Given the description of an element on the screen output the (x, y) to click on. 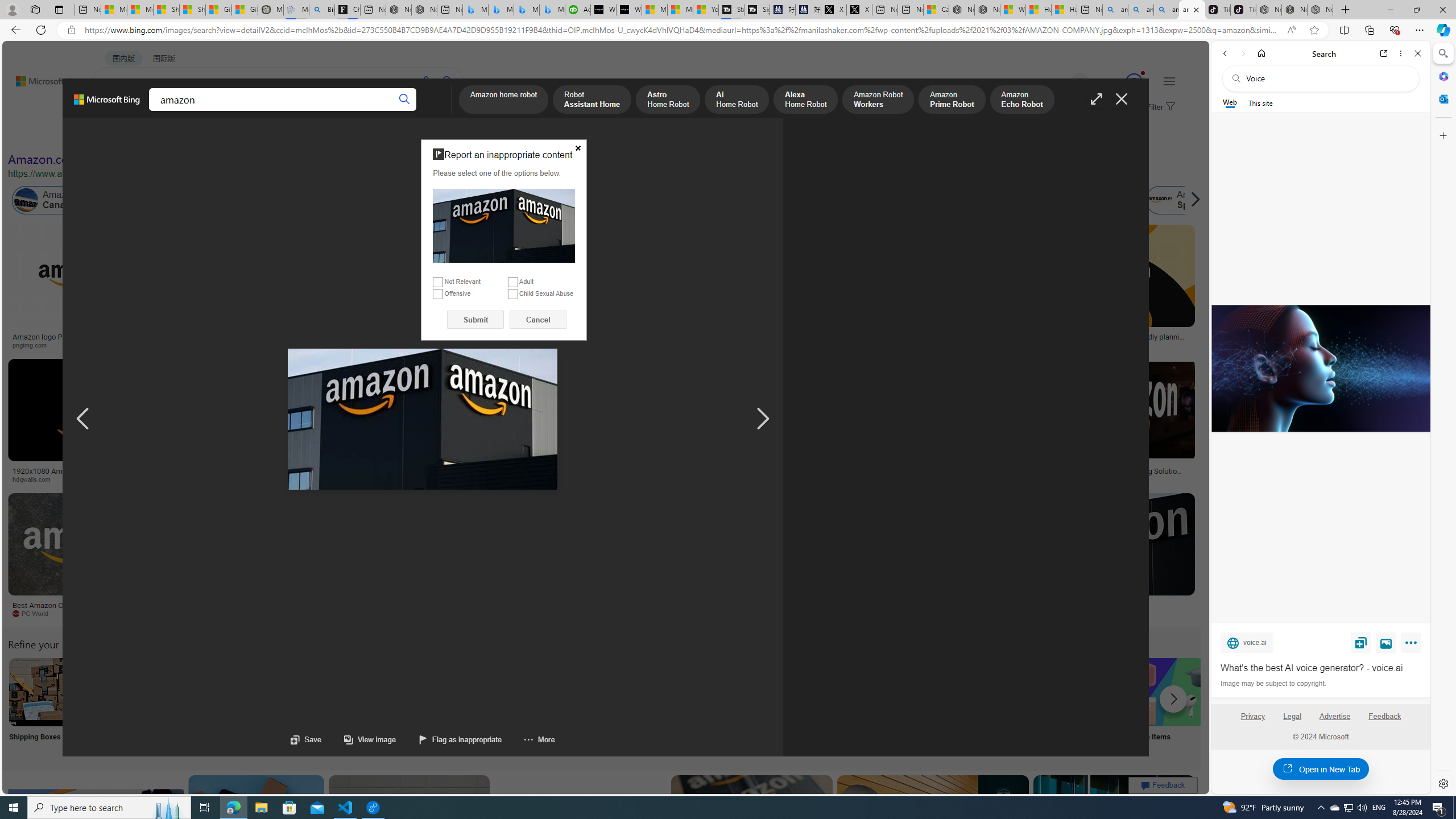
Shipping Boxes (42, 706)
Bing Real Estate - Home sales and rental listings (321, 9)
VIDEOS (260, 111)
Amazon Package Delivery (418, 691)
Alexa Smart Home Devices (673, 332)
Open link in new tab (1383, 53)
Image size (127, 135)
Kindle Paperwhite Case (673, 298)
Alexa Home Robot (805, 100)
Amazon Retail Store (493, 691)
Child Sexual Abuse (512, 293)
